Given the description of an element on the screen output the (x, y) to click on. 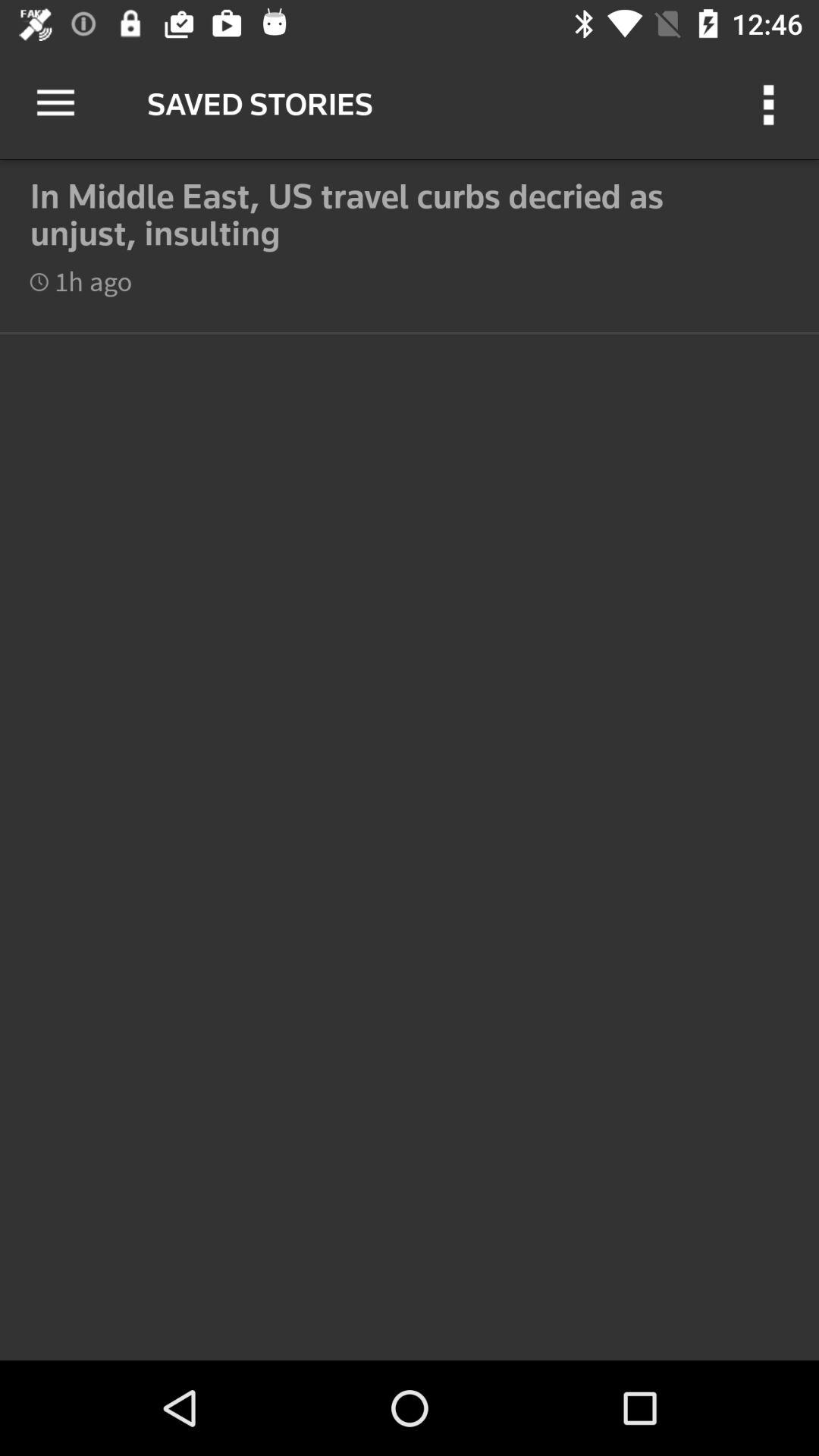
click item next to the saved stories icon (55, 103)
